Given the description of an element on the screen output the (x, y) to click on. 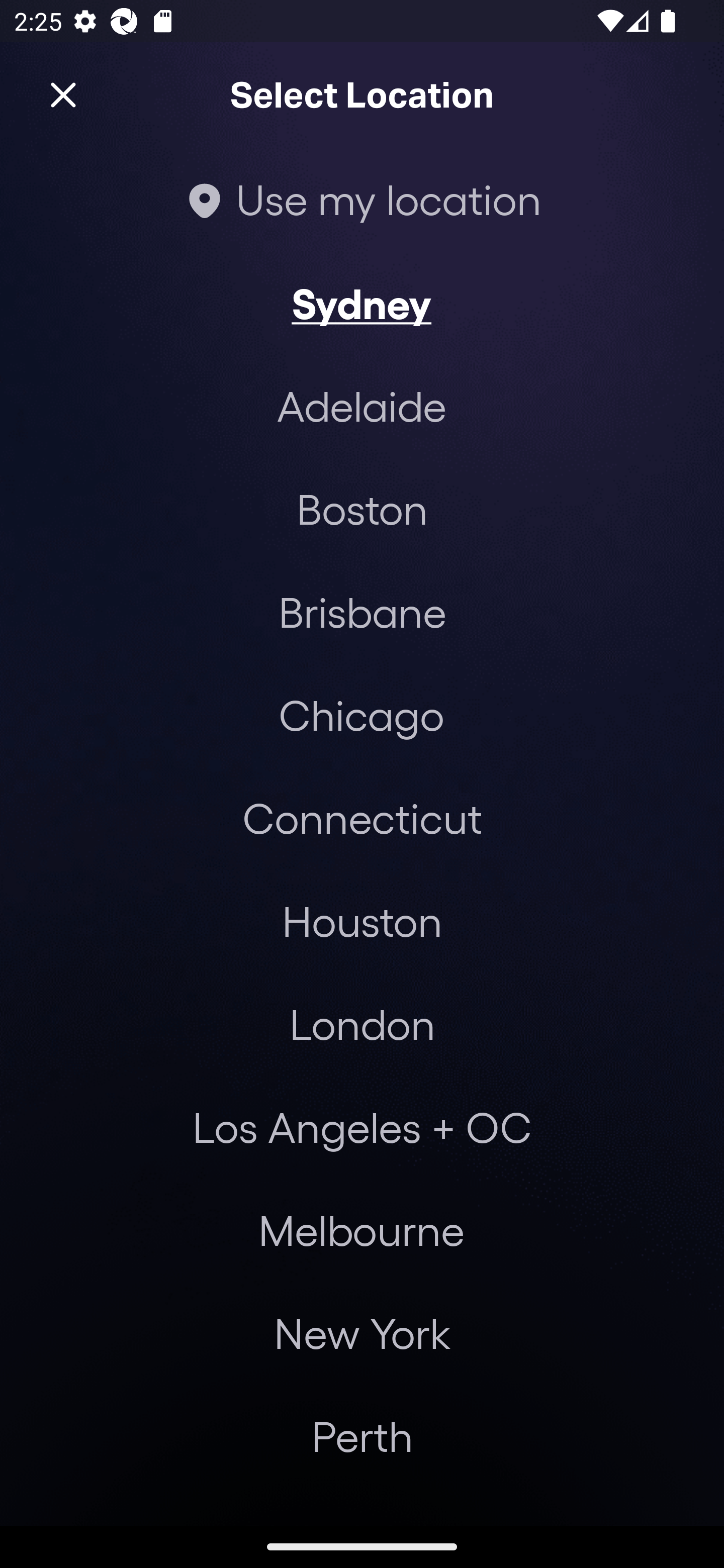
Close (62, 95)
   Use my location (362, 198)
Sydney (361, 302)
Adelaide (361, 405)
Boston (361, 508)
Brisbane (361, 611)
Chicago (361, 714)
Connecticut (361, 817)
Houston (361, 920)
London (361, 1023)
Los Angeles + OC (361, 1127)
Melbourne (361, 1230)
New York (361, 1332)
Perth (361, 1436)
